Given the description of an element on the screen output the (x, y) to click on. 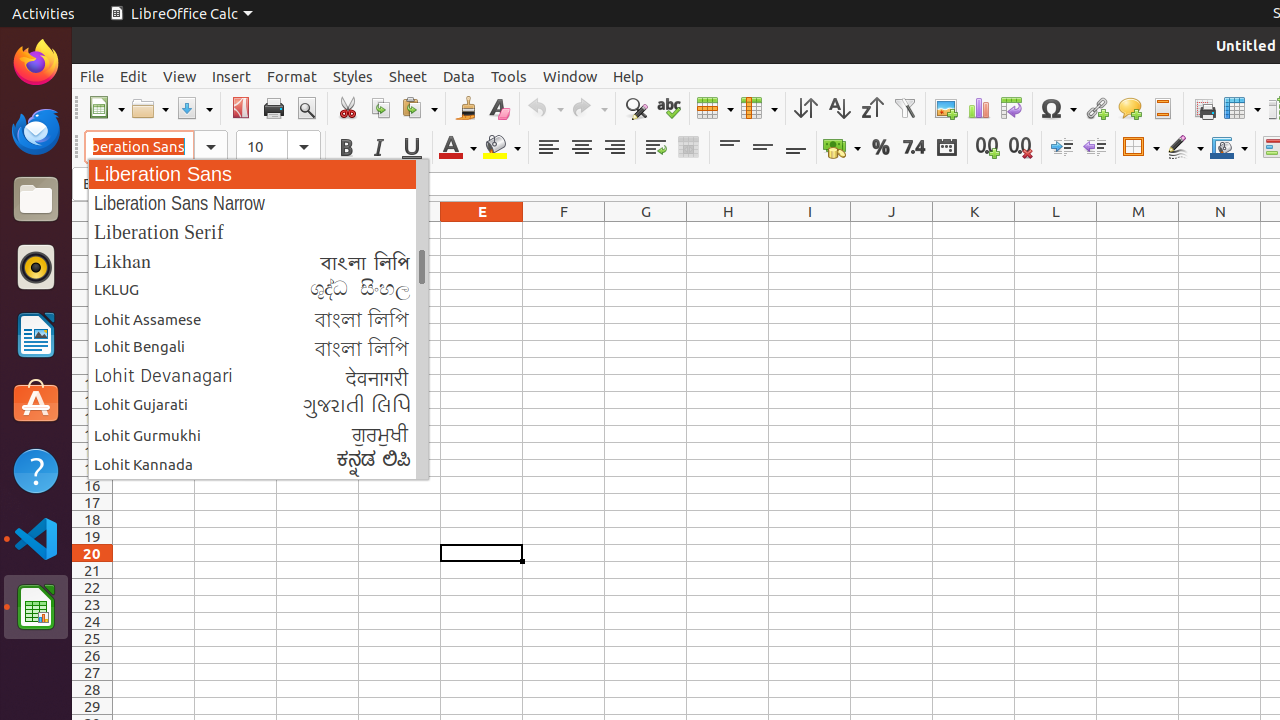
Ubuntu Software Element type: push-button (36, 402)
Window Element type: menu (570, 76)
